Given the description of an element on the screen output the (x, y) to click on. 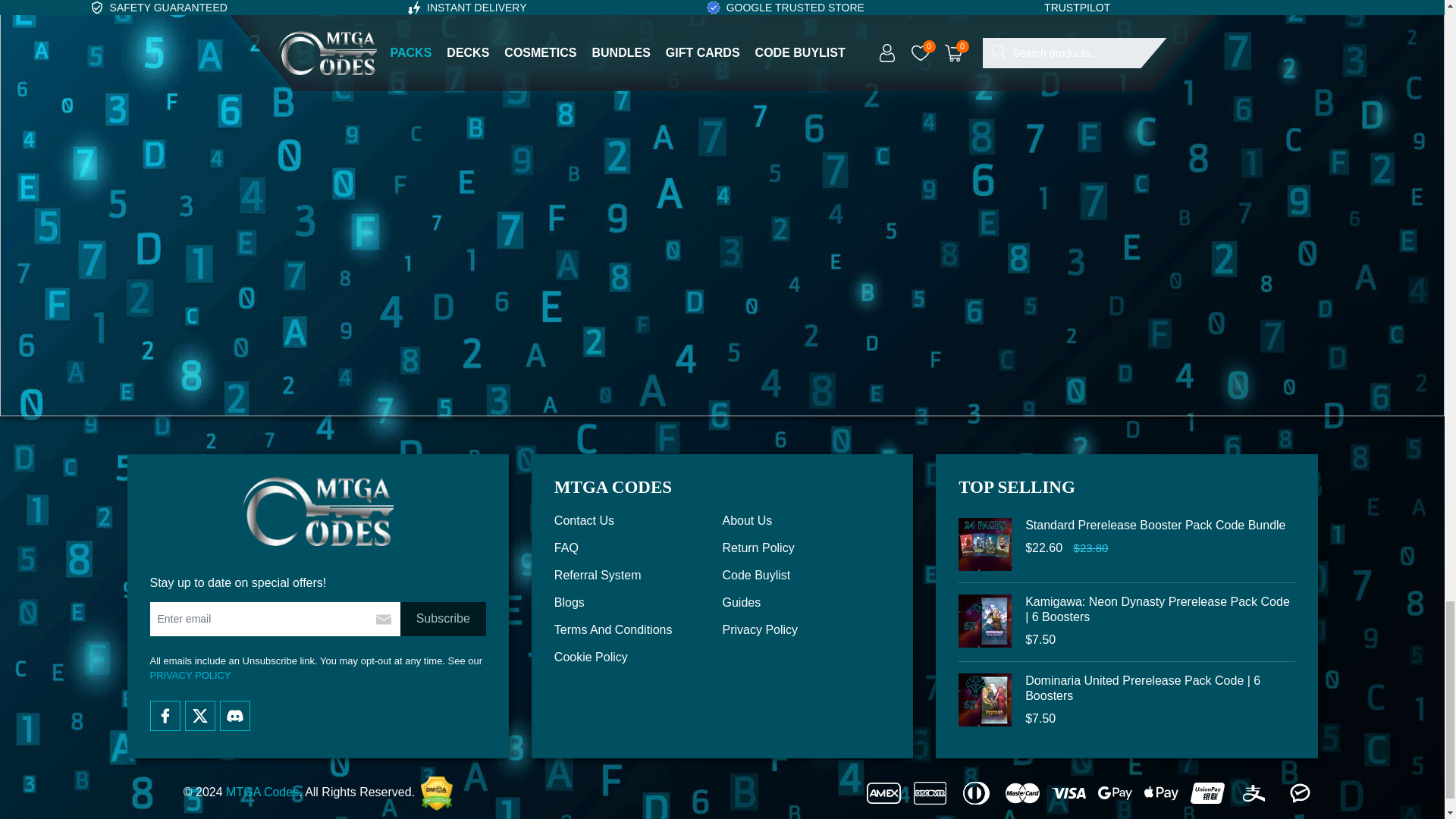
Visa (1068, 793)
Facebook (164, 716)
Contact Us (638, 520)
American Express (883, 793)
UnionPay (1207, 793)
Alipay (1253, 793)
Apple Pay (1160, 793)
Wechat Pay  (1299, 793)
GPay (1114, 793)
Subscribe (443, 618)
